Given the description of an element on the screen output the (x, y) to click on. 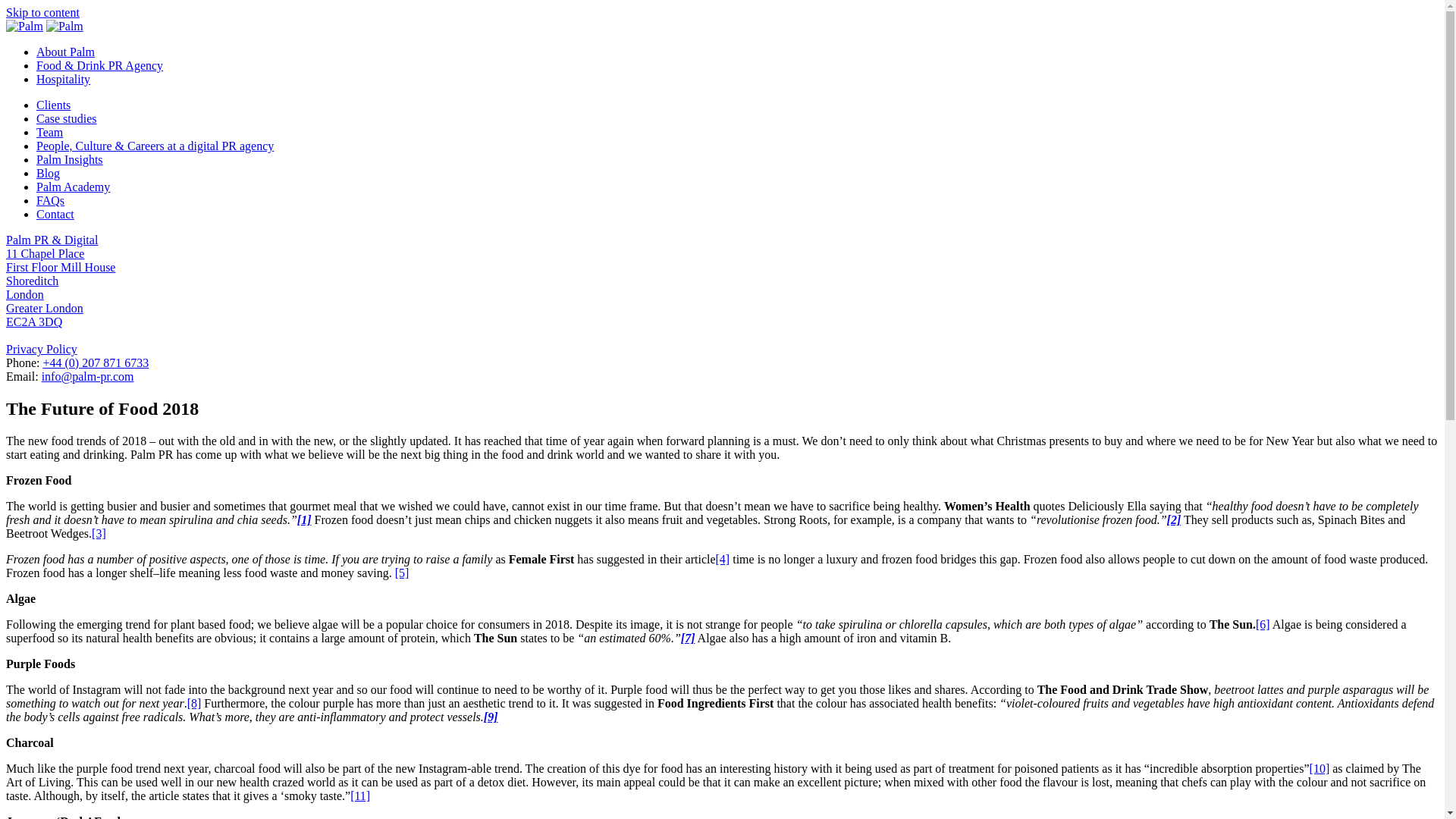
Palm Insights (69, 159)
Team (49, 132)
FAQs (50, 200)
Contact (55, 214)
Hospitality (63, 78)
Clients (52, 104)
Case studies (66, 118)
Skip to content (42, 11)
Palm Academy (73, 186)
Privacy Policy (41, 349)
